Given the description of an element on the screen output the (x, y) to click on. 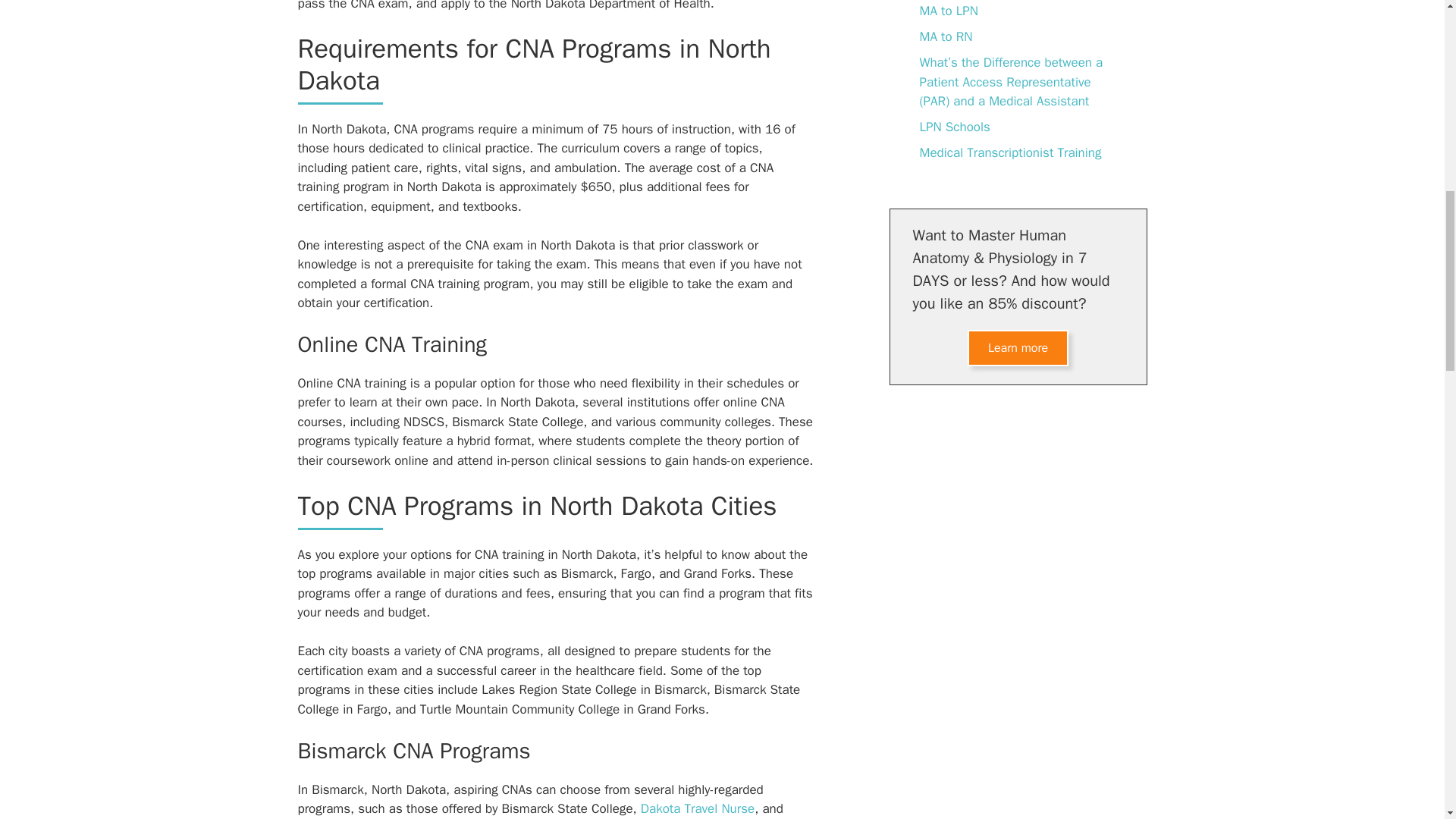
MA to LPN (947, 10)
Learn more (1018, 347)
MA to RN (945, 36)
Learn more (1018, 347)
LPN Schools (954, 126)
Medical Transcriptionist Training (1009, 152)
Dakota Travel Nurse (697, 808)
